Given the description of an element on the screen output the (x, y) to click on. 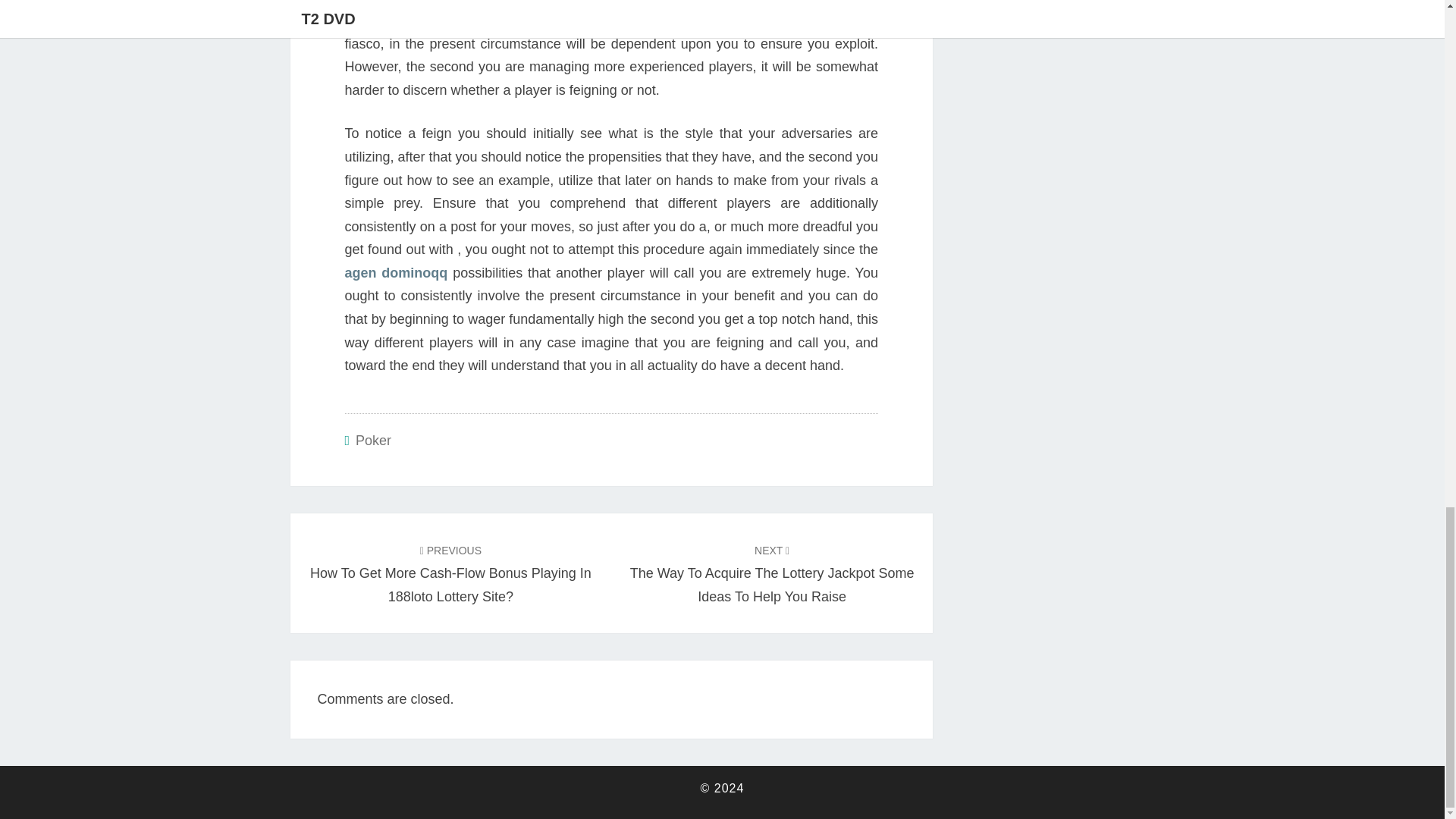
Poker (373, 440)
agen dominoqq (394, 272)
